Given the description of an element on the screen output the (x, y) to click on. 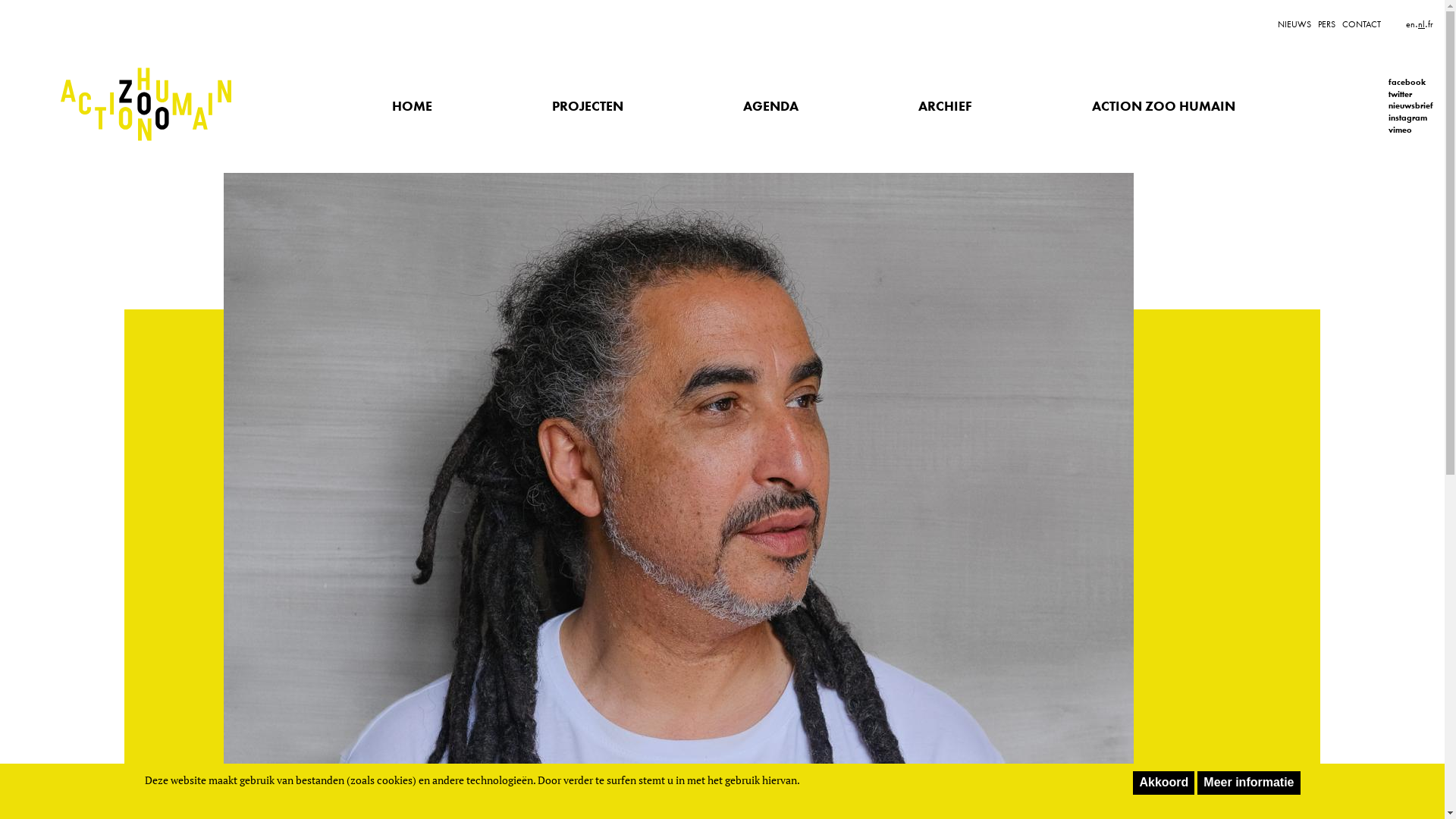
Meer informatie Element type: text (1248, 782)
Action Zoo Humain Element type: hover (145, 106)
ARCHIEF Element type: text (944, 106)
PERS Element type: text (1326, 24)
Skip to main content Element type: text (0, 3)
ACTION ZOO HUMAIN Element type: text (1163, 106)
facebook Element type: text (1410, 82)
NIEUWS Element type: text (1294, 24)
AGENDA Element type: text (770, 106)
Akkoord Element type: text (1163, 782)
nl Element type: text (1421, 24)
instagram Element type: text (1410, 118)
twitter Element type: text (1410, 94)
vimeo Element type: text (1410, 130)
HOME Element type: text (411, 106)
PROJECTEN Element type: text (587, 106)
fr Element type: text (1430, 24)
CONTACT Element type: text (1361, 24)
en Element type: text (1410, 24)
nieuwsbrief Element type: text (1410, 106)
